Given the description of an element on the screen output the (x, y) to click on. 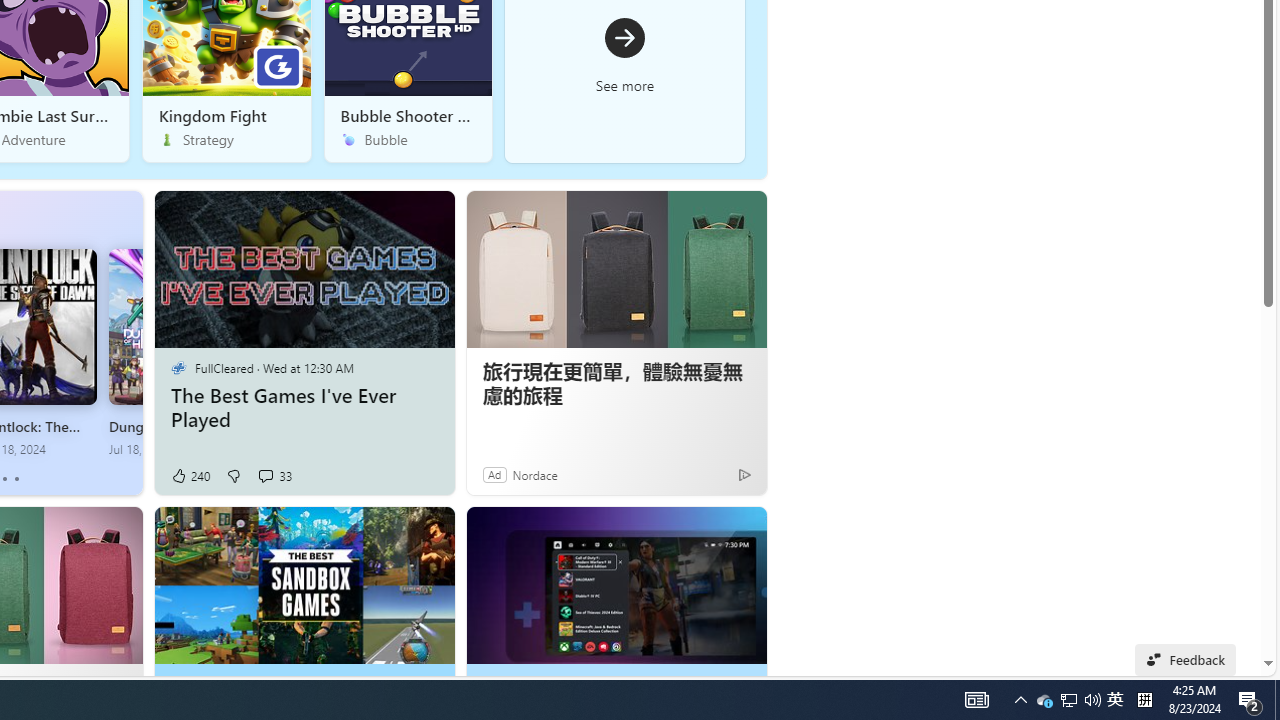
Nordace (535, 474)
240 Like (189, 475)
Class: next-flipper (132, 342)
Hide this story (706, 530)
tab-4 (16, 479)
Ad (493, 474)
Dislike (233, 475)
View comments 33 Comment (274, 475)
See more (624, 54)
View comments 33 Comment (265, 475)
See more (742, 530)
The Best Games I've Ever Played (304, 407)
Ad Choice (744, 474)
Feedback (1185, 659)
